Given the description of an element on the screen output the (x, y) to click on. 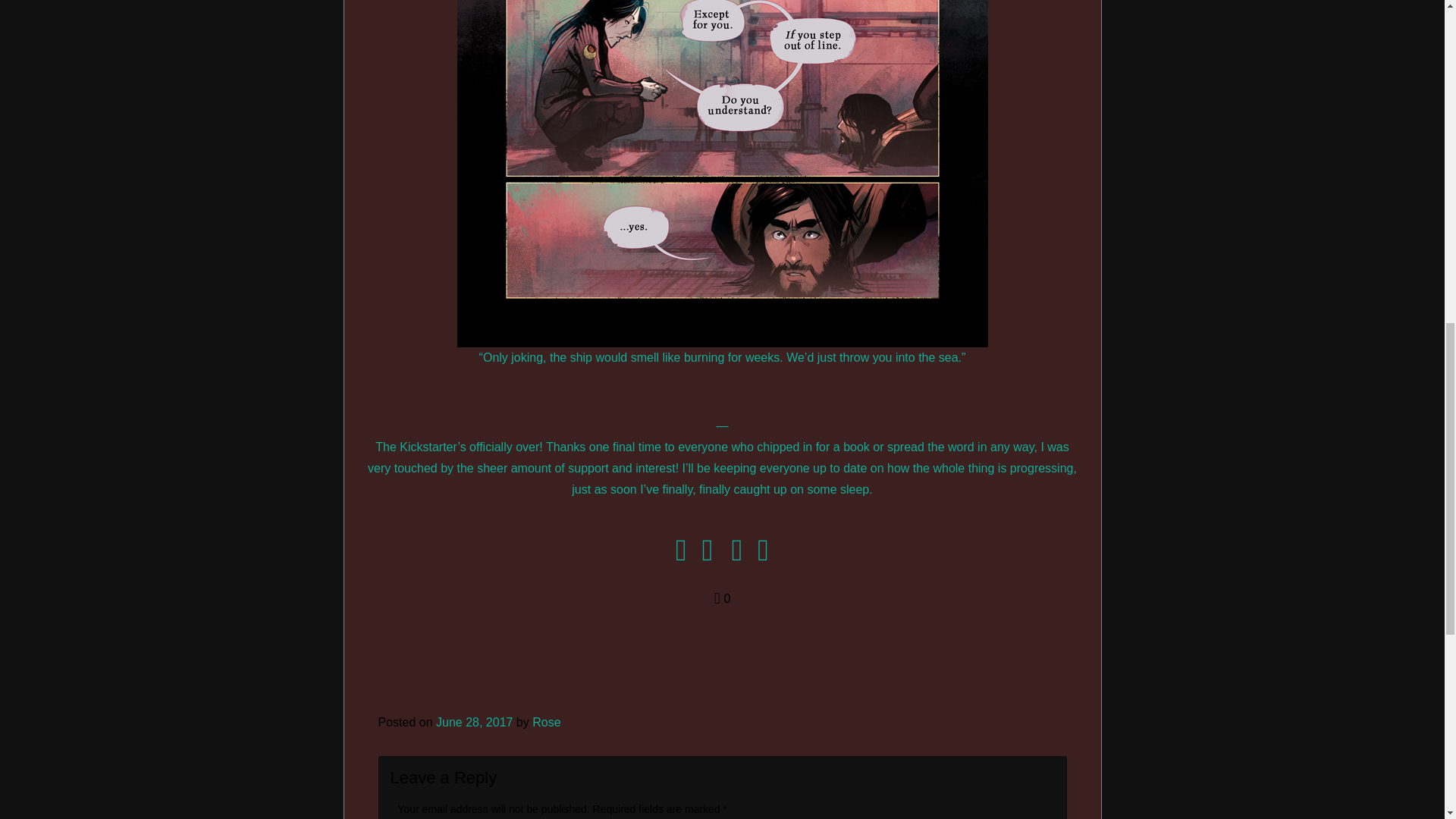
Rose (546, 721)
June 28, 2017 (473, 721)
